Given the description of an element on the screen output the (x, y) to click on. 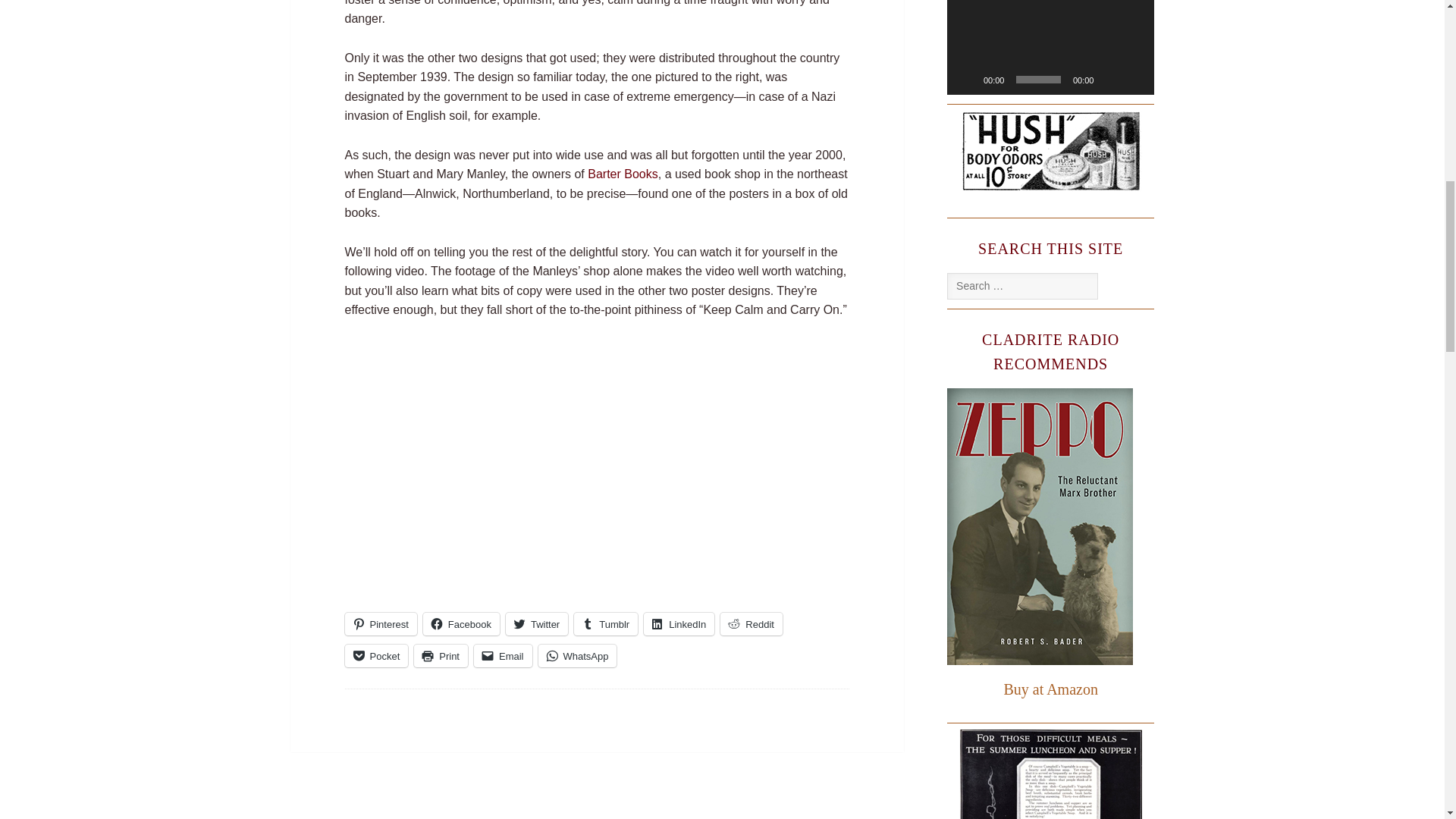
Click to share on Pocket (375, 655)
Click to share on Twitter (536, 623)
Click to share on Facebook (461, 623)
Click to share on Tumblr (605, 623)
Reddit (751, 623)
Click to print (440, 655)
Click to share on LinkedIn (678, 623)
Email (503, 655)
Click to share on Reddit (751, 623)
Pinterest (379, 623)
